Given the description of an element on the screen output the (x, y) to click on. 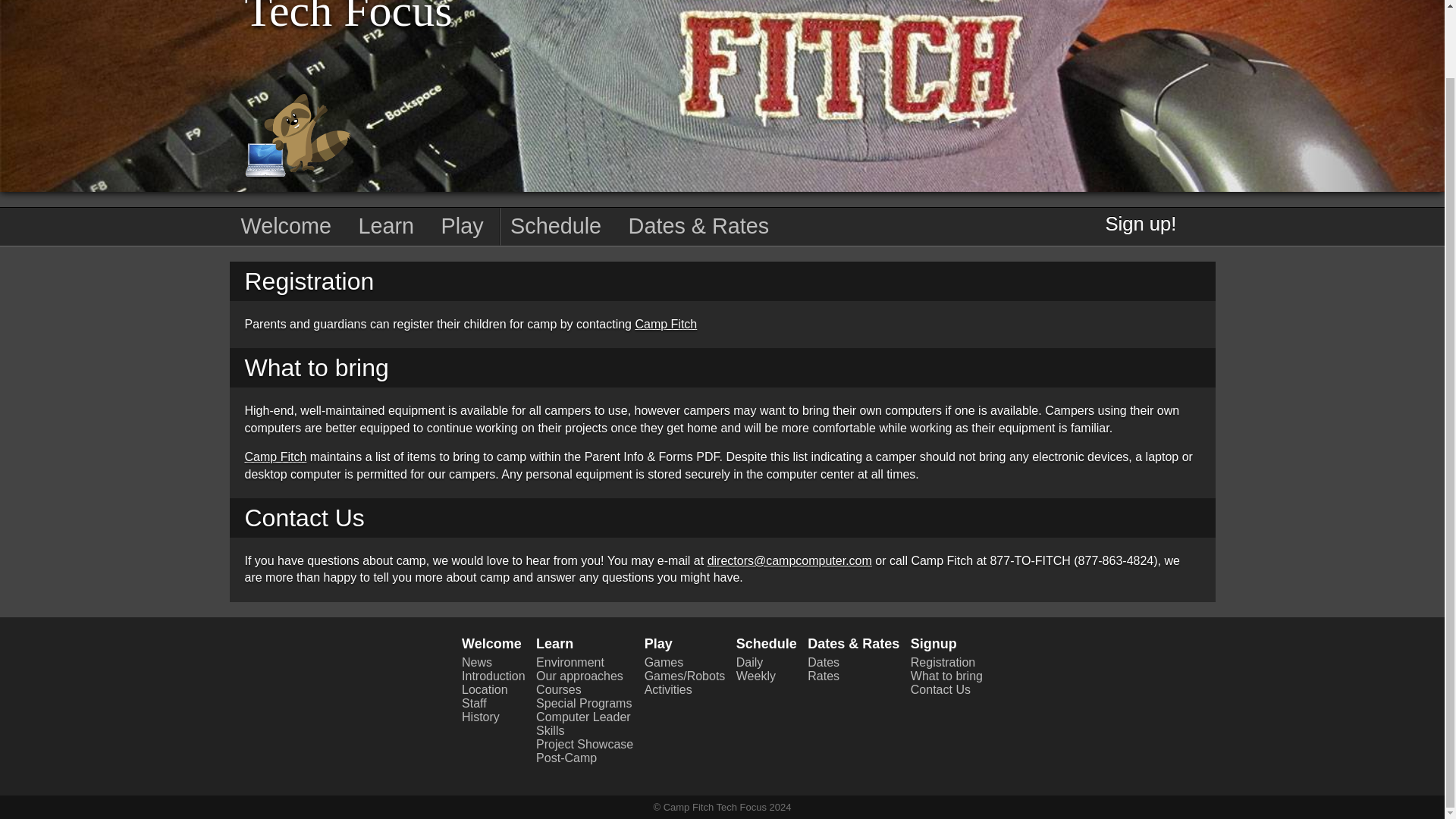
Play (462, 226)
Schedule (766, 643)
Special Programs (583, 703)
History (480, 716)
Computer Leader (582, 716)
Schedule (555, 226)
Registration (943, 662)
Post-Camp (565, 757)
Play (658, 643)
Contact Us (941, 689)
